Given the description of an element on the screen output the (x, y) to click on. 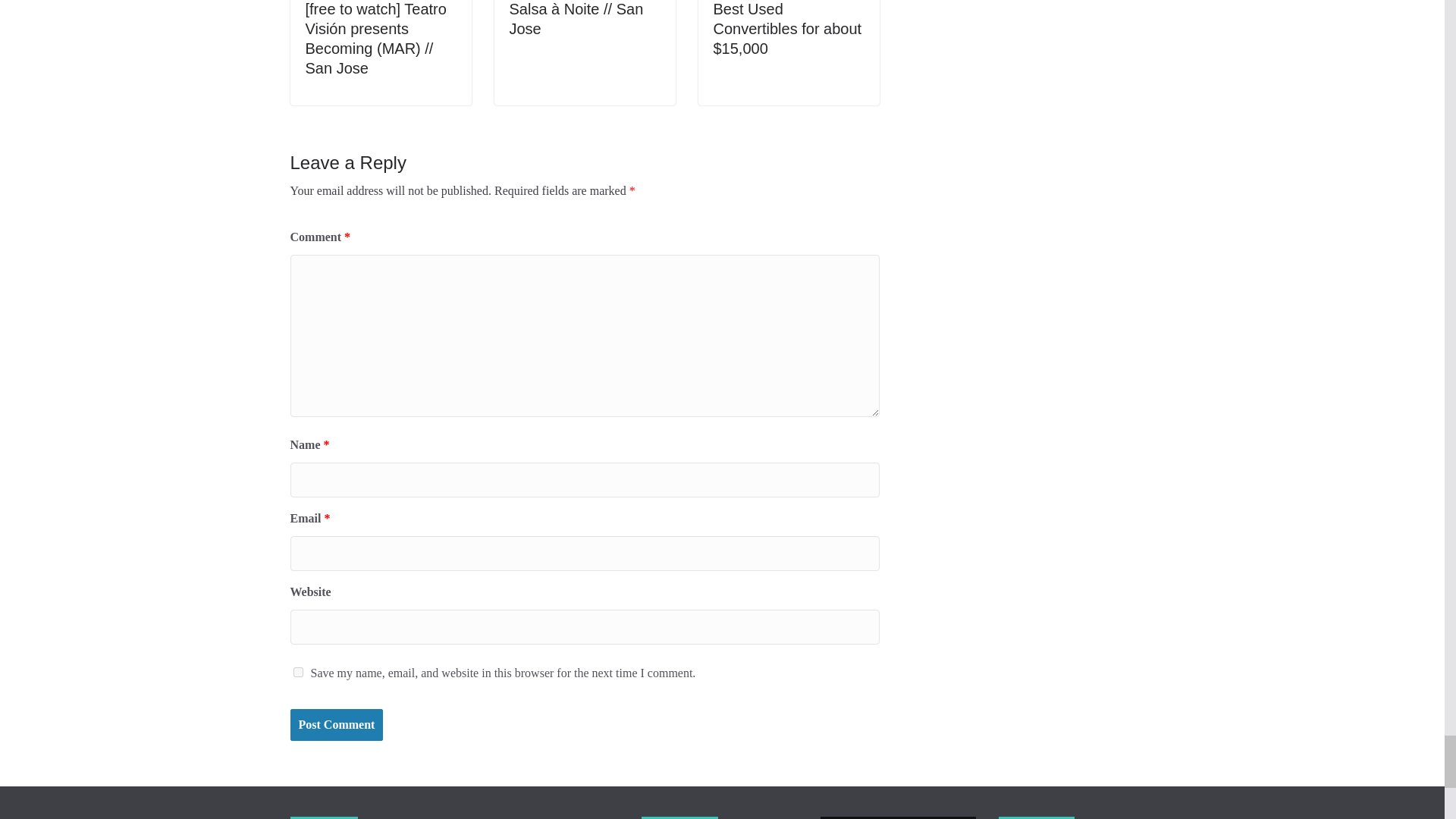
yes (297, 672)
Post Comment (335, 725)
